Given the description of an element on the screen output the (x, y) to click on. 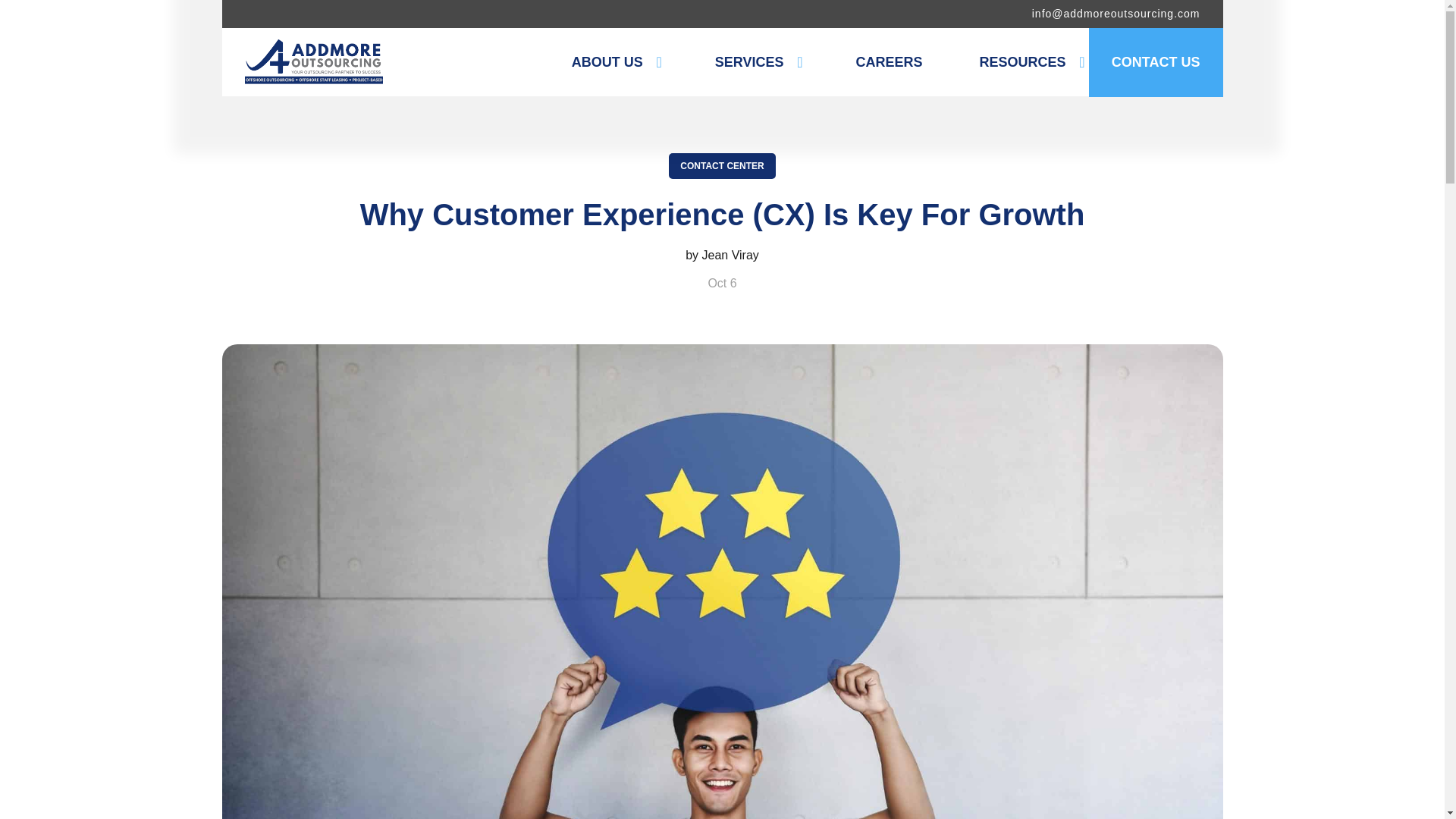
SERVICES (756, 64)
CONTACT US (1156, 62)
ABOUT US (615, 64)
CONTACT CENTER (721, 166)
Jean Viray (729, 254)
CAREERS (888, 64)
RESOURCES (1029, 64)
